Given the description of an element on the screen output the (x, y) to click on. 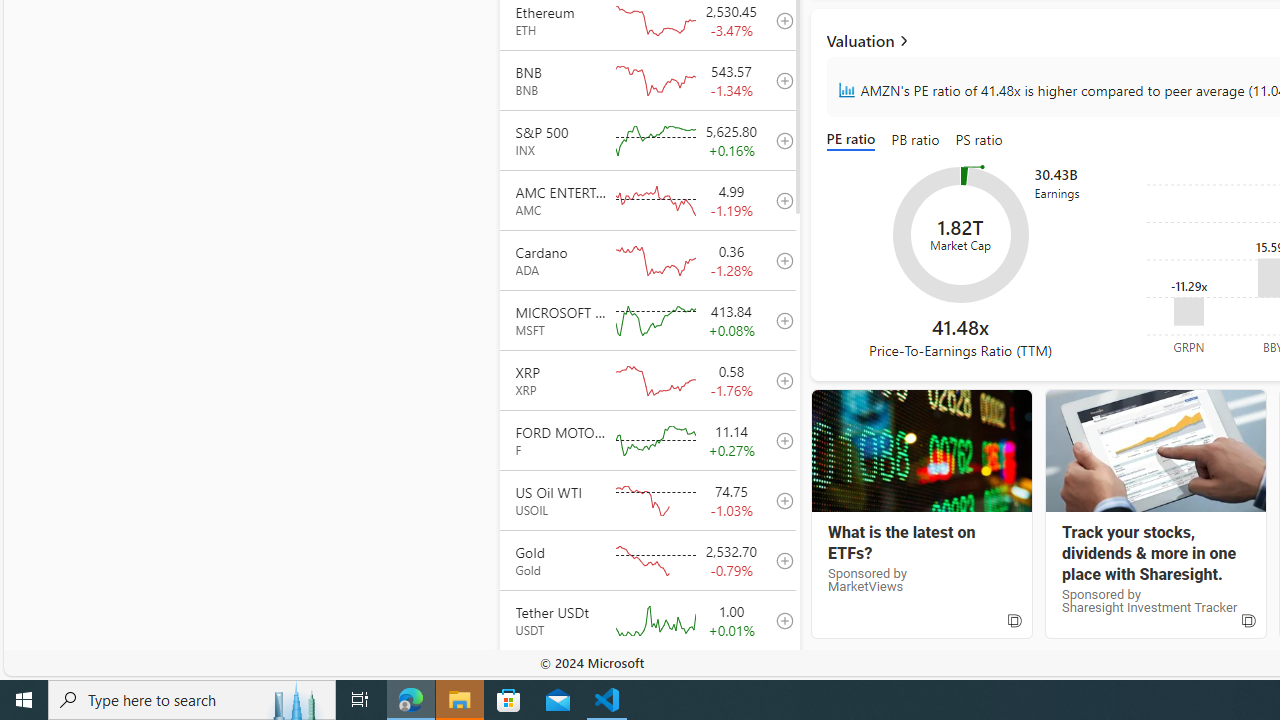
PE ratio (854, 140)
MarketViews (921, 451)
PS ratio (979, 140)
add to your watchlist (779, 680)
Sharesight Investment Tracker (1154, 451)
PB ratio (915, 140)
